Given the description of an element on the screen output the (x, y) to click on. 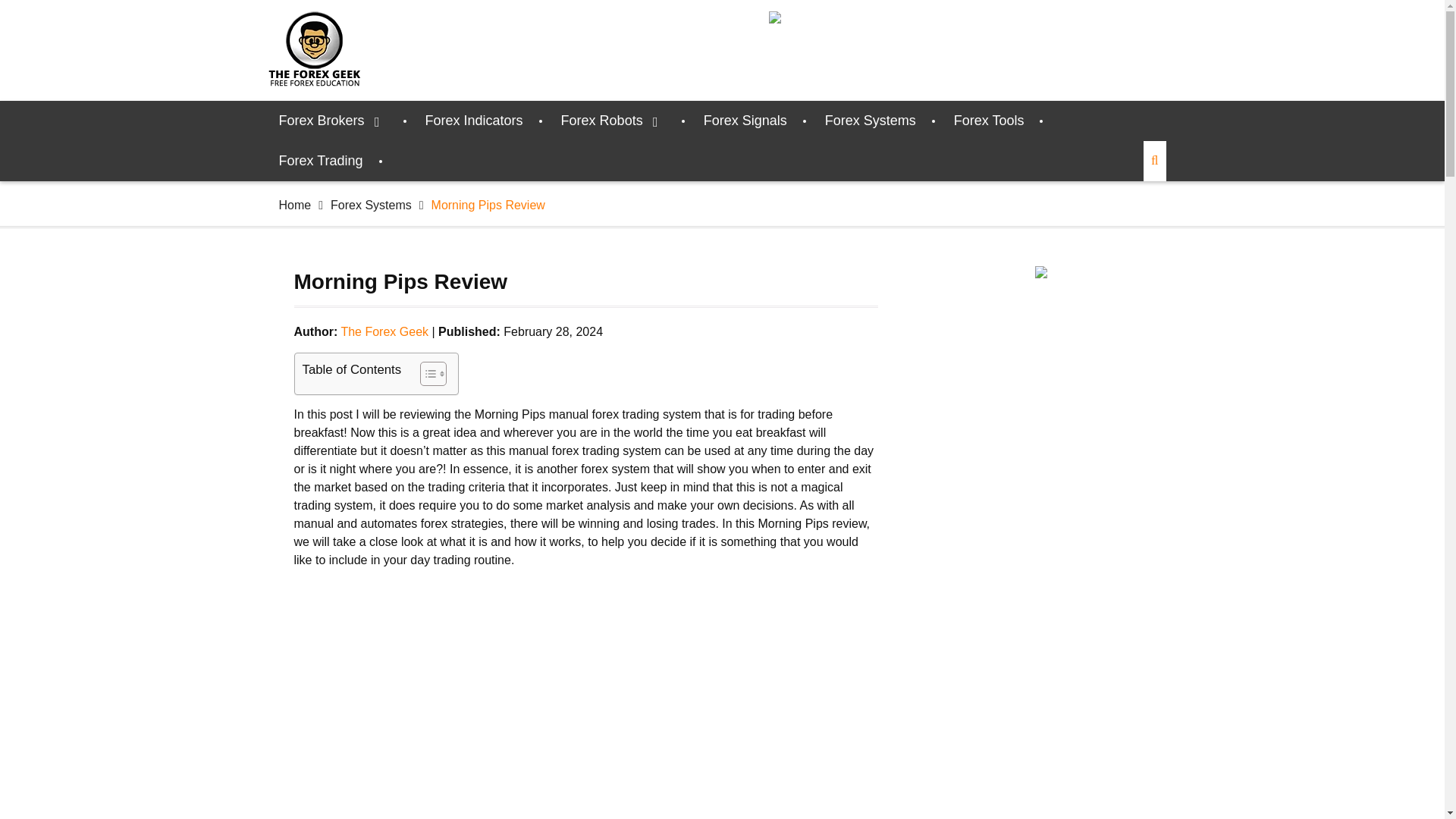
Forex Tools (989, 120)
Morning Pips Review (584, 694)
Forex Indicators (473, 120)
The Forex Geek (384, 331)
Home (295, 205)
Forex Brokers (333, 120)
Forex Robots (612, 120)
Forex Systems (870, 120)
Forex Signals (745, 120)
Forex Trading (320, 160)
Forex Systems (371, 205)
